Given the description of an element on the screen output the (x, y) to click on. 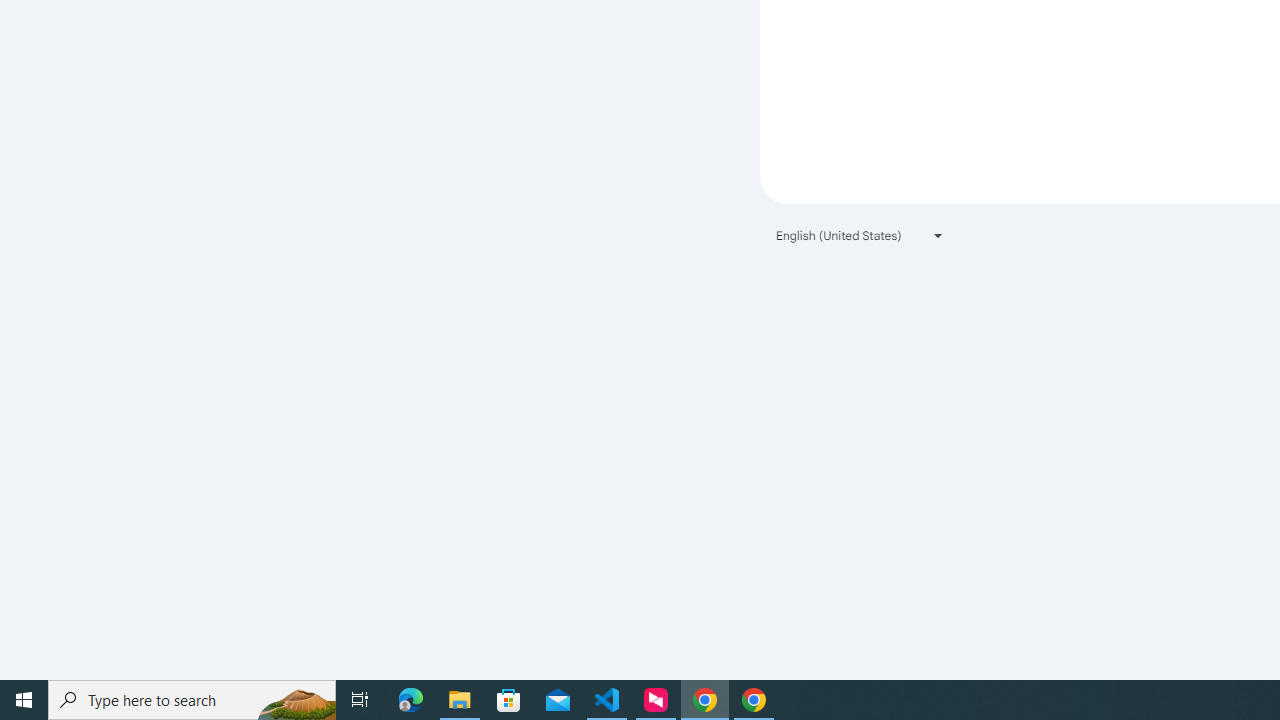
English (United States) (860, 234)
